Given the description of an element on the screen output the (x, y) to click on. 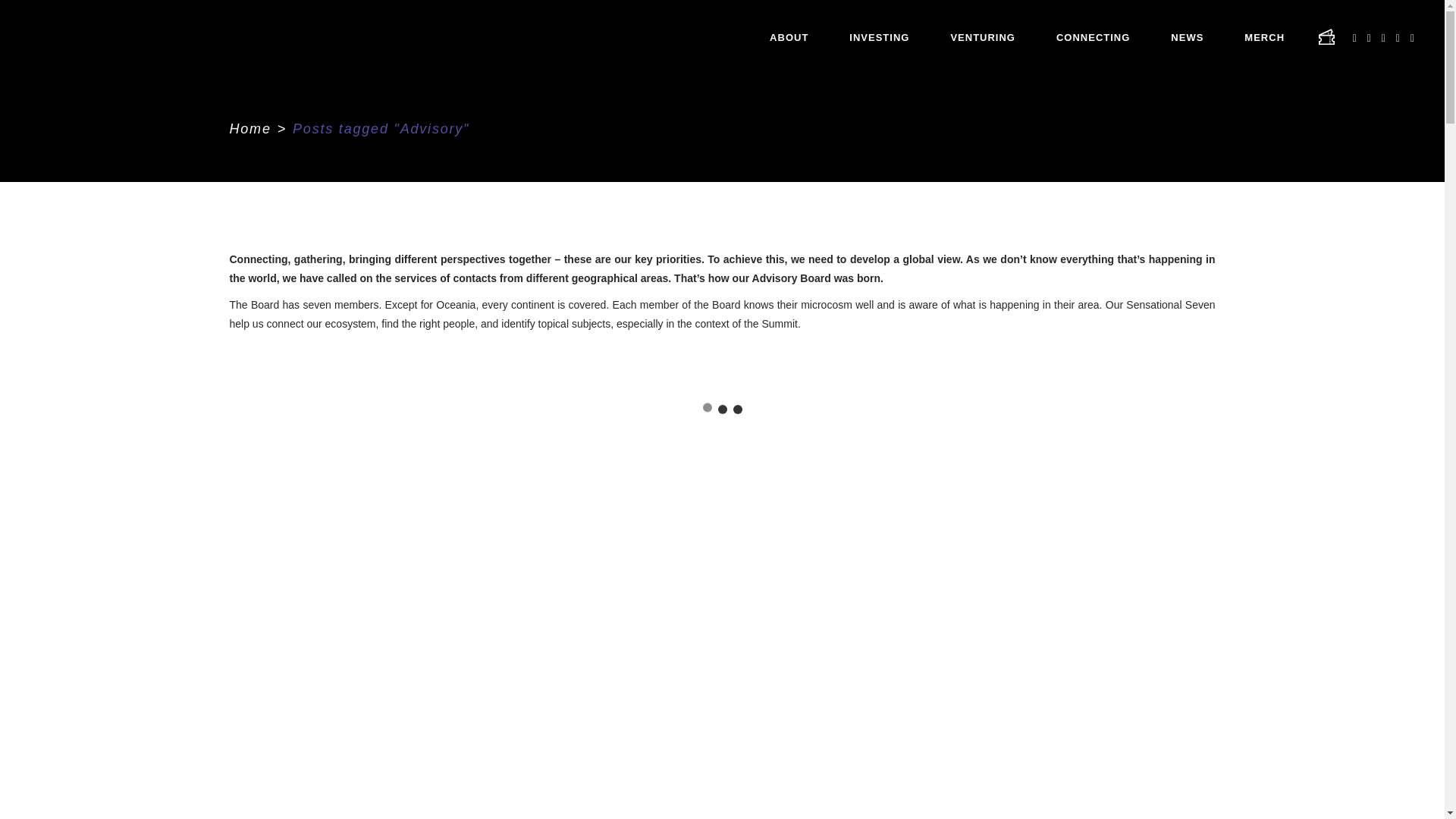
ABOUT (788, 38)
MERCH (1264, 38)
CONNECTING (1092, 38)
INVESTING (879, 38)
NEWS (1187, 38)
VENTURING (982, 38)
